Given the description of an element on the screen output the (x, y) to click on. 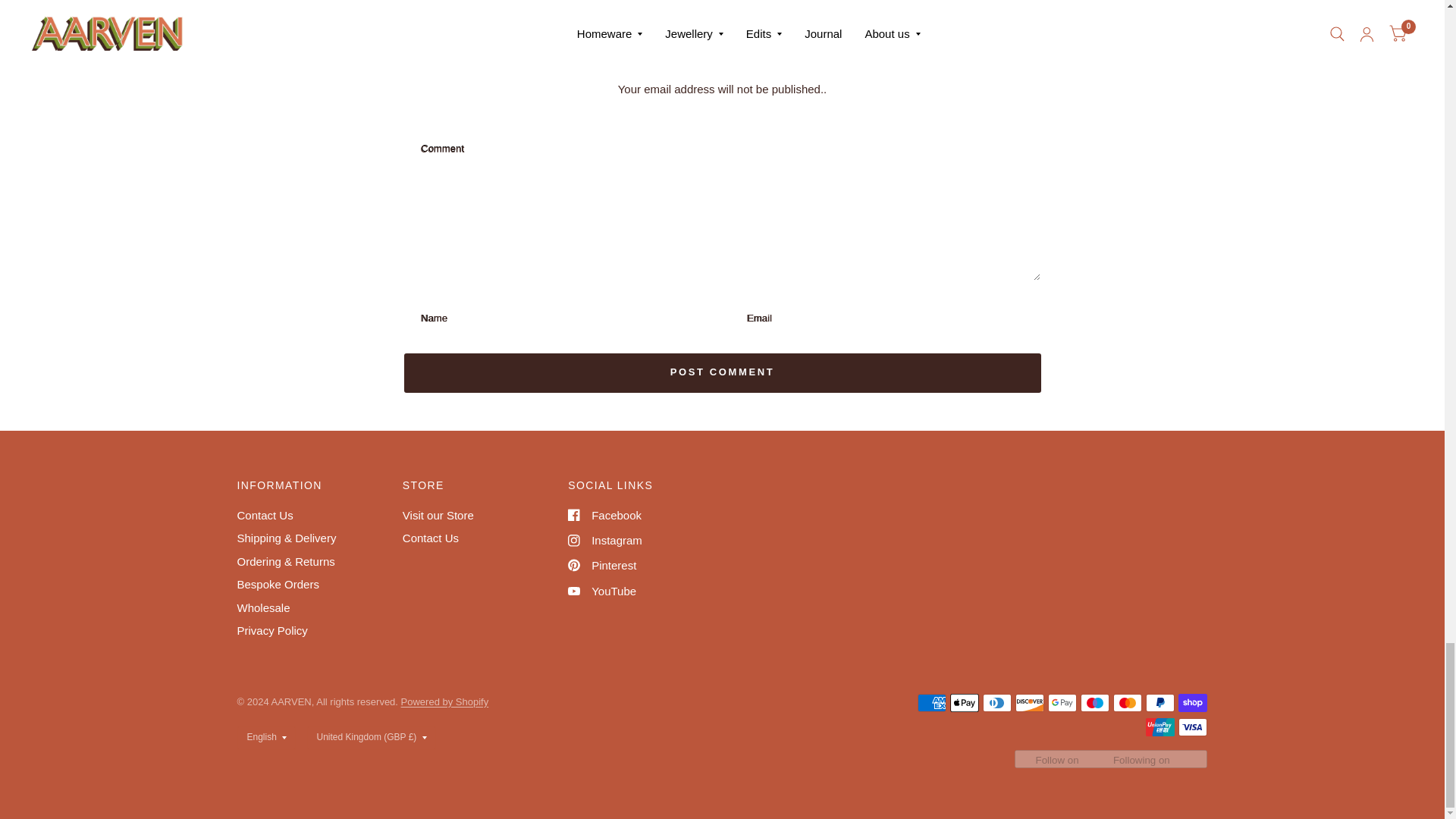
Post comment (722, 372)
